Given the description of an element on the screen output the (x, y) to click on. 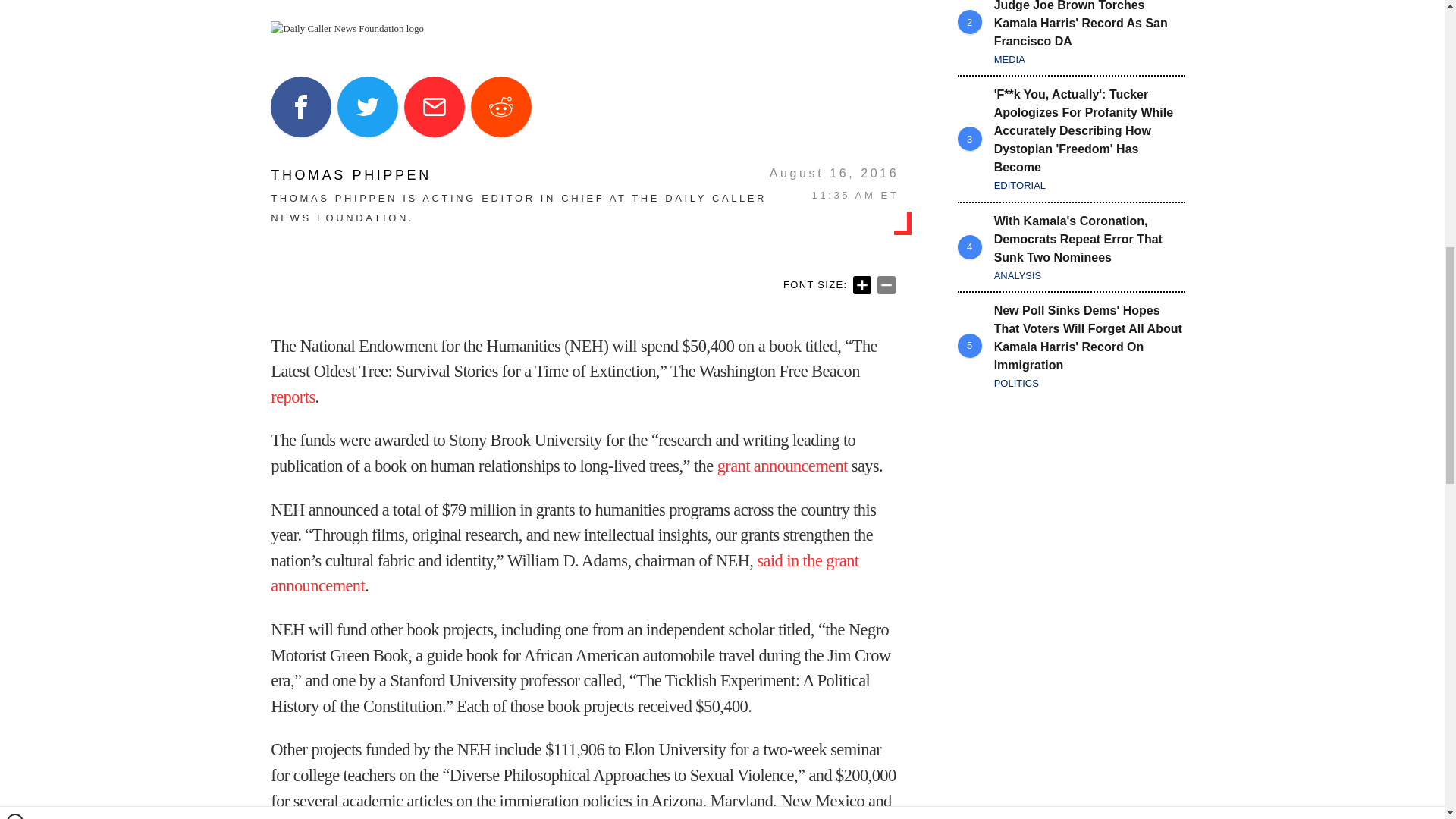
Close window (14, 6)
grant announcement (782, 465)
View More Articles By Thomas Phippen (519, 175)
said in the grant announcement (564, 573)
THOMAS PHIPPEN (519, 175)
reports (292, 396)
